Given the description of an element on the screen output the (x, y) to click on. 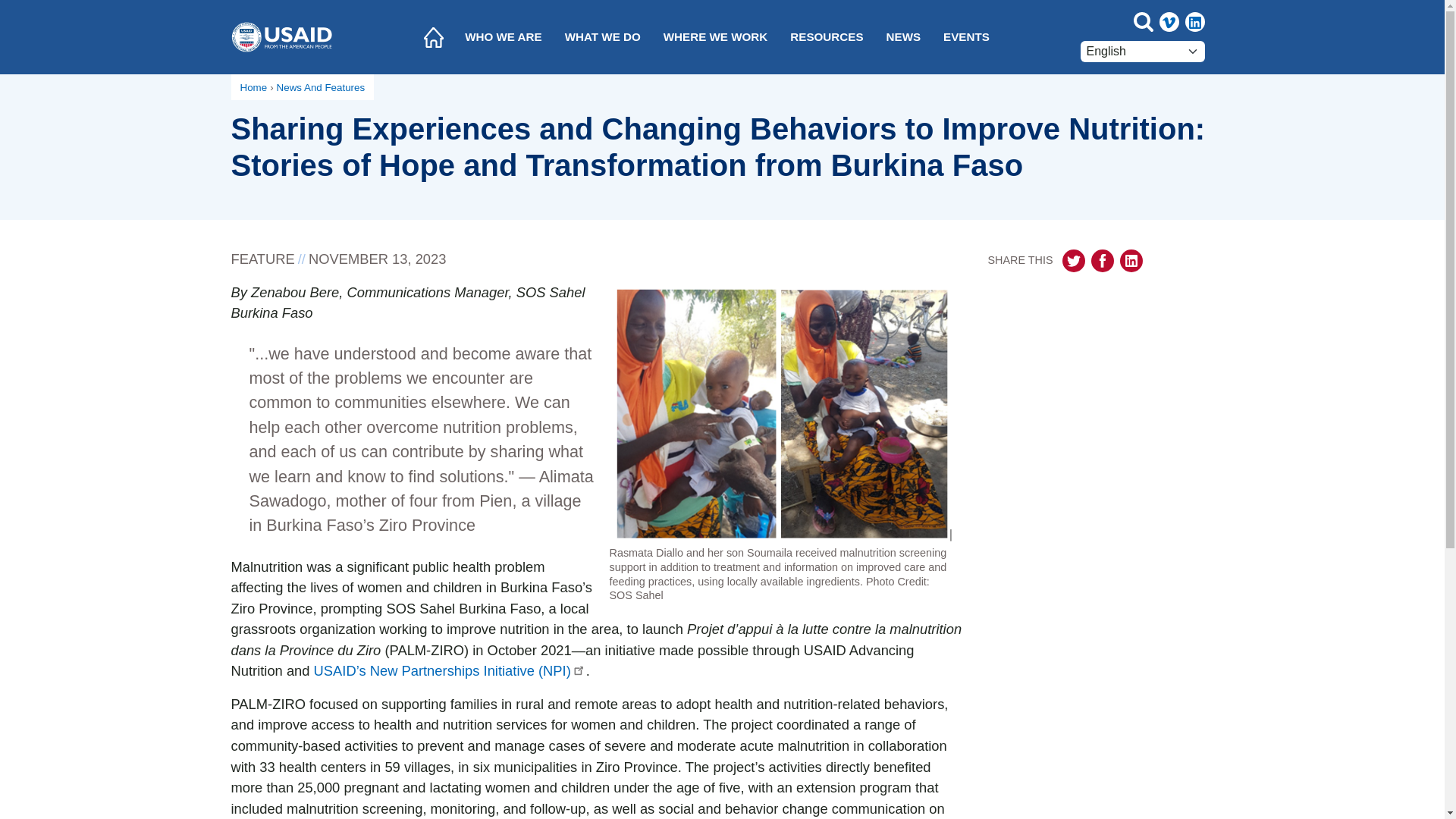
Where We Work (715, 37)
Home (432, 37)
Explore our videos on Vimeo (1167, 21)
WHO WE ARE (502, 37)
Go to U.S. Agency for International Development (280, 37)
WHAT WE DO (602, 37)
WHERE WE WORK (715, 37)
Join us on LinkedIn (1194, 21)
